Given the description of an element on the screen output the (x, y) to click on. 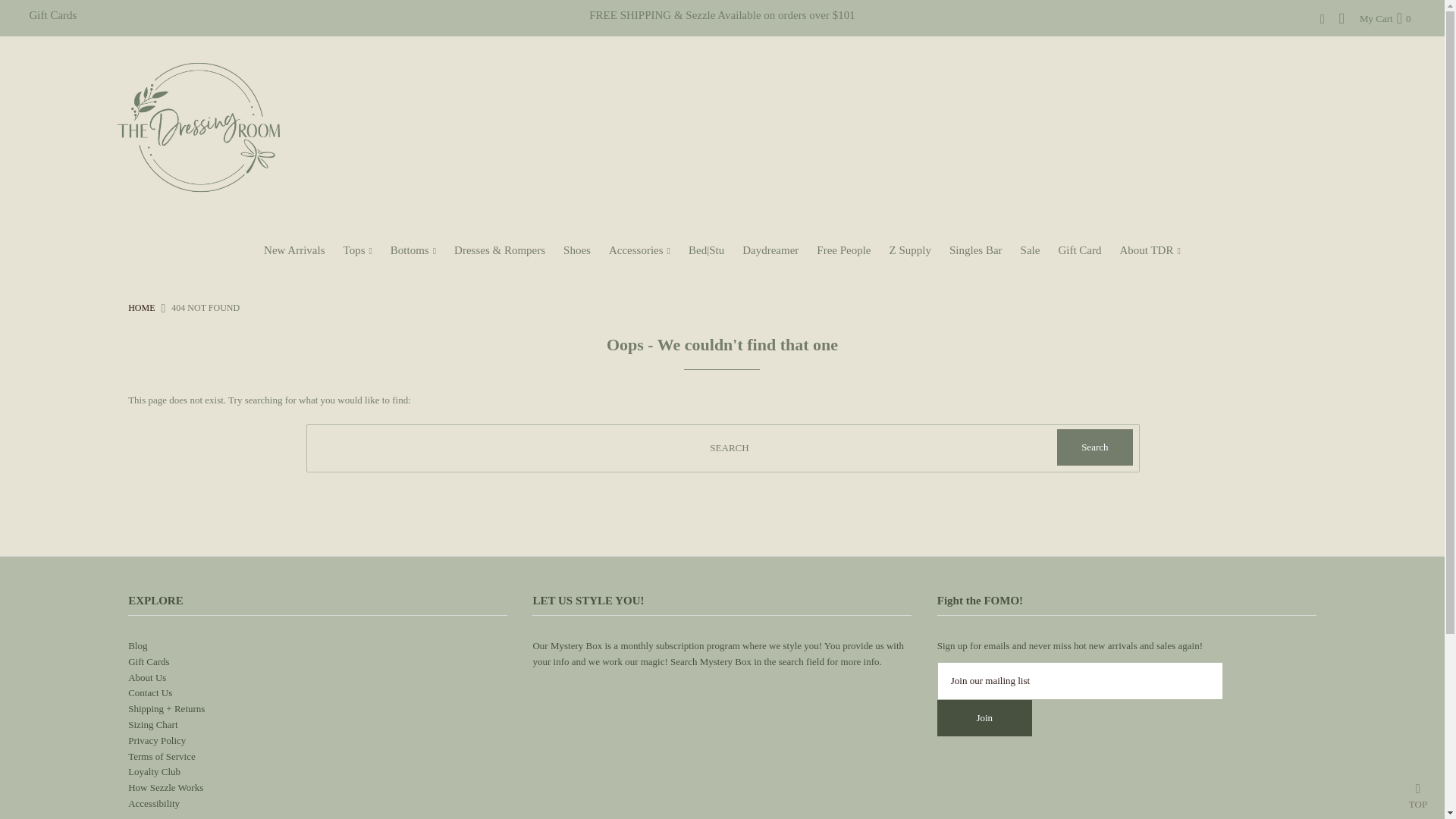
My Cart0 (1385, 18)
TOP (1417, 792)
Search (1094, 447)
Join (984, 718)
Bottoms (413, 250)
Gift Cards (53, 15)
New Arrivals (293, 250)
Tops (358, 250)
Home (141, 307)
